Given the description of an element on the screen output the (x, y) to click on. 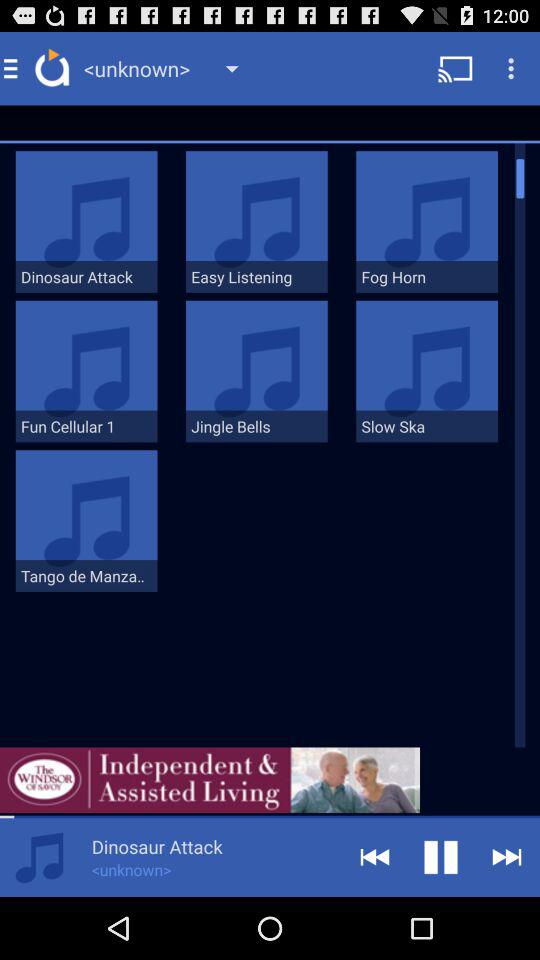
music option (39, 857)
